Given the description of an element on the screen output the (x, y) to click on. 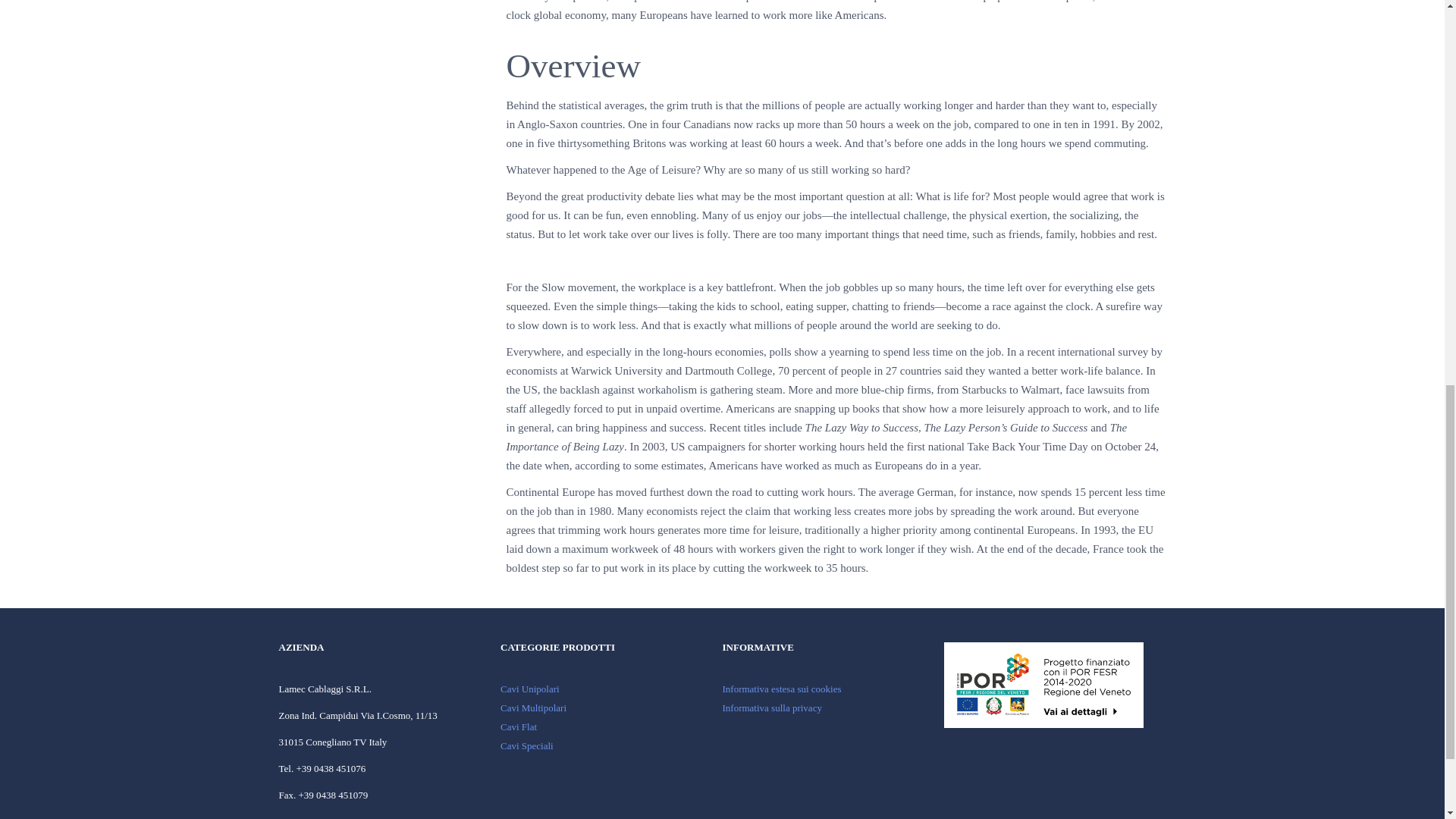
Informativa sulla privacy (771, 707)
Cavi Multipolari (533, 707)
Informativa estesa sui cookies (781, 688)
Cavi Unipolari (529, 688)
Cavi Flat (518, 726)
Cavi Speciali (526, 745)
